Given the description of an element on the screen output the (x, y) to click on. 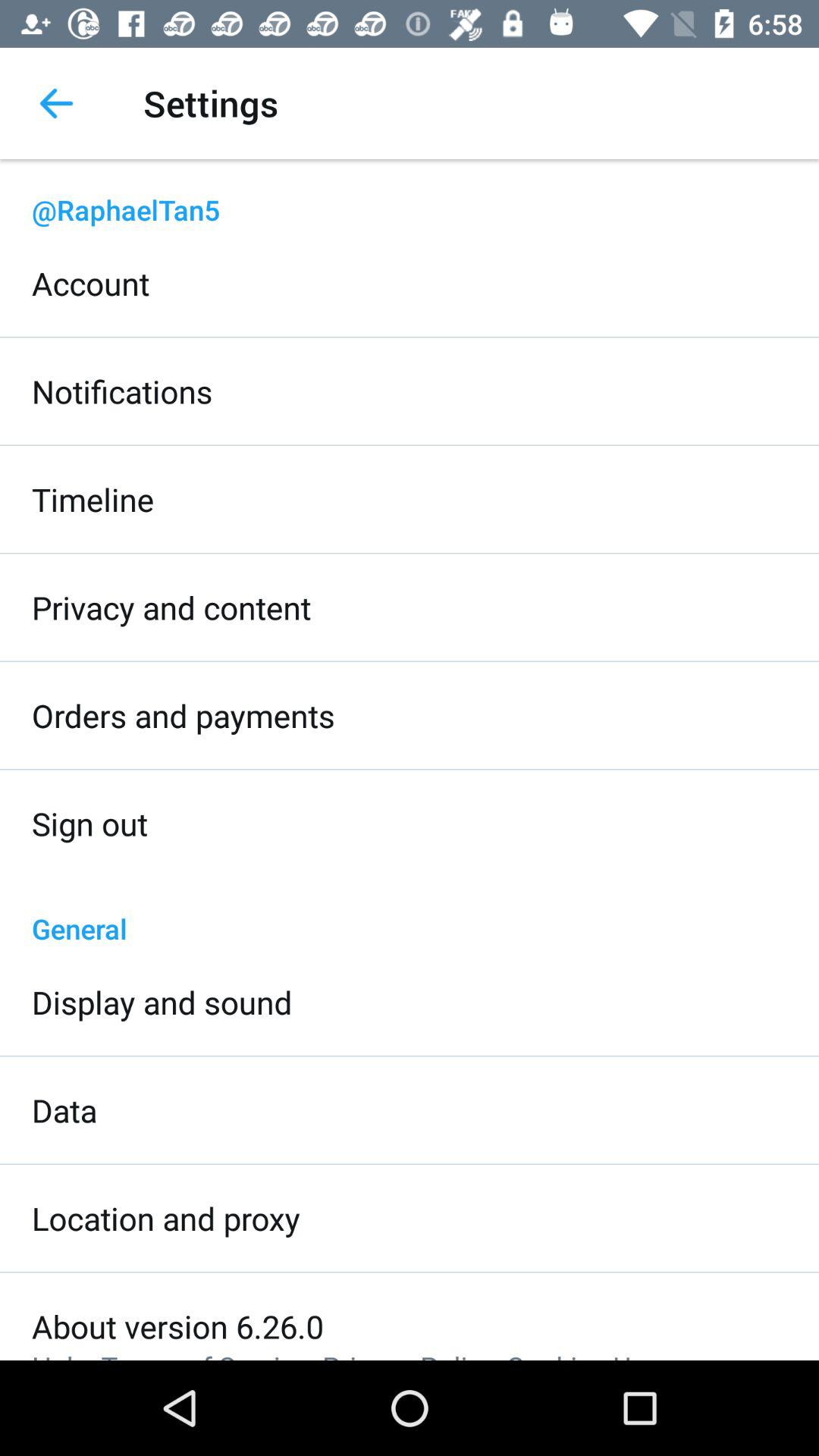
swipe until the location and proxy icon (165, 1217)
